Given the description of an element on the screen output the (x, y) to click on. 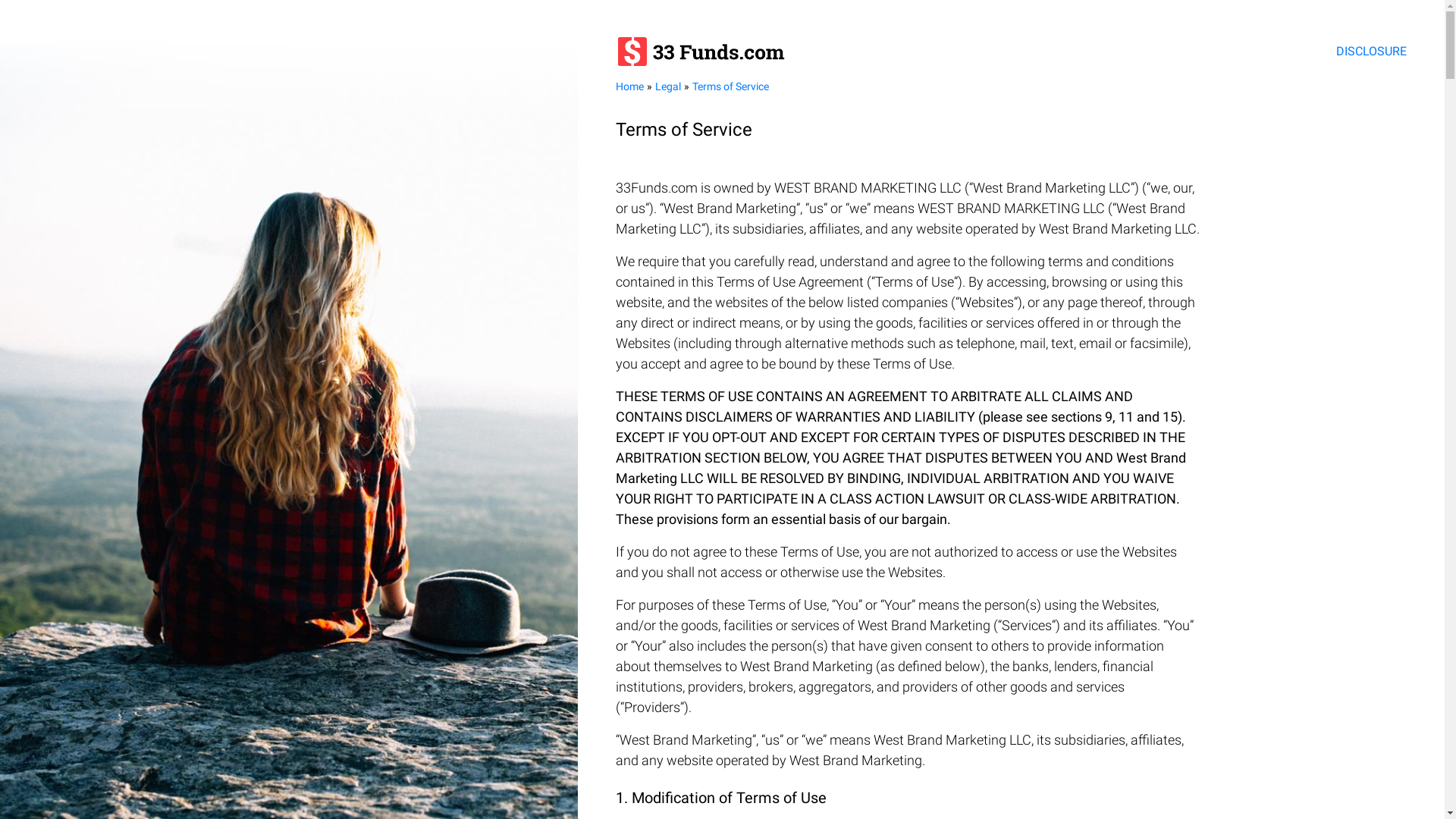
Terms of Service Element type: text (730, 86)
Home Element type: text (629, 86)
Legal Element type: text (667, 86)
DISCLOSURE Element type: text (1371, 50)
